Given the description of an element on the screen output the (x, y) to click on. 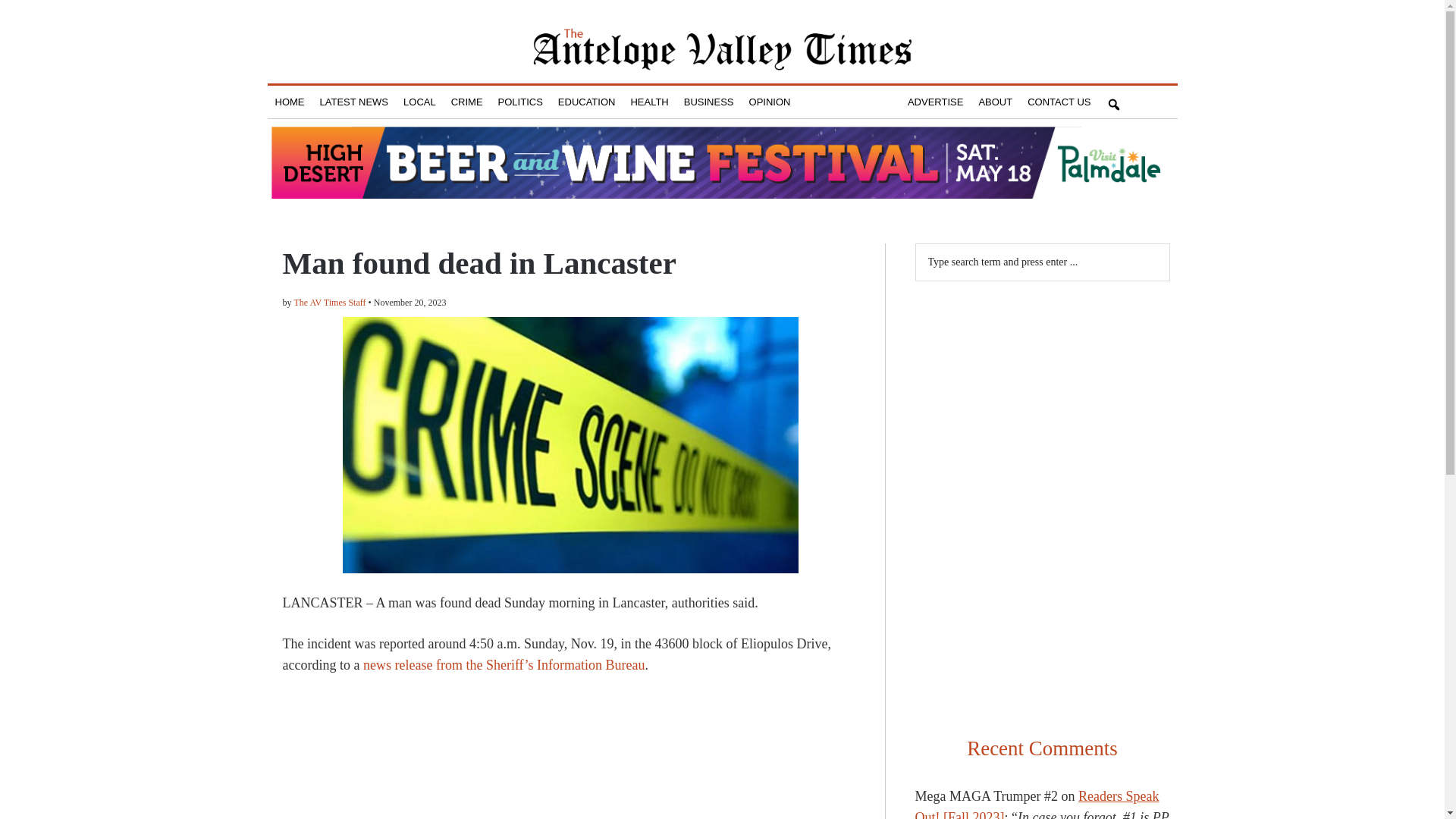
EDUCATION (586, 101)
ABOUT (995, 101)
Advertisement (1041, 395)
OPINION (769, 101)
SHOW SEARCH (1112, 101)
LOCAL (420, 101)
HEALTH (649, 101)
Advertisement (569, 757)
LATEST NEWS (354, 101)
BUSINESS (709, 101)
Advertisement (1041, 614)
POLITICS (520, 101)
HOME (288, 101)
